Given the description of an element on the screen output the (x, y) to click on. 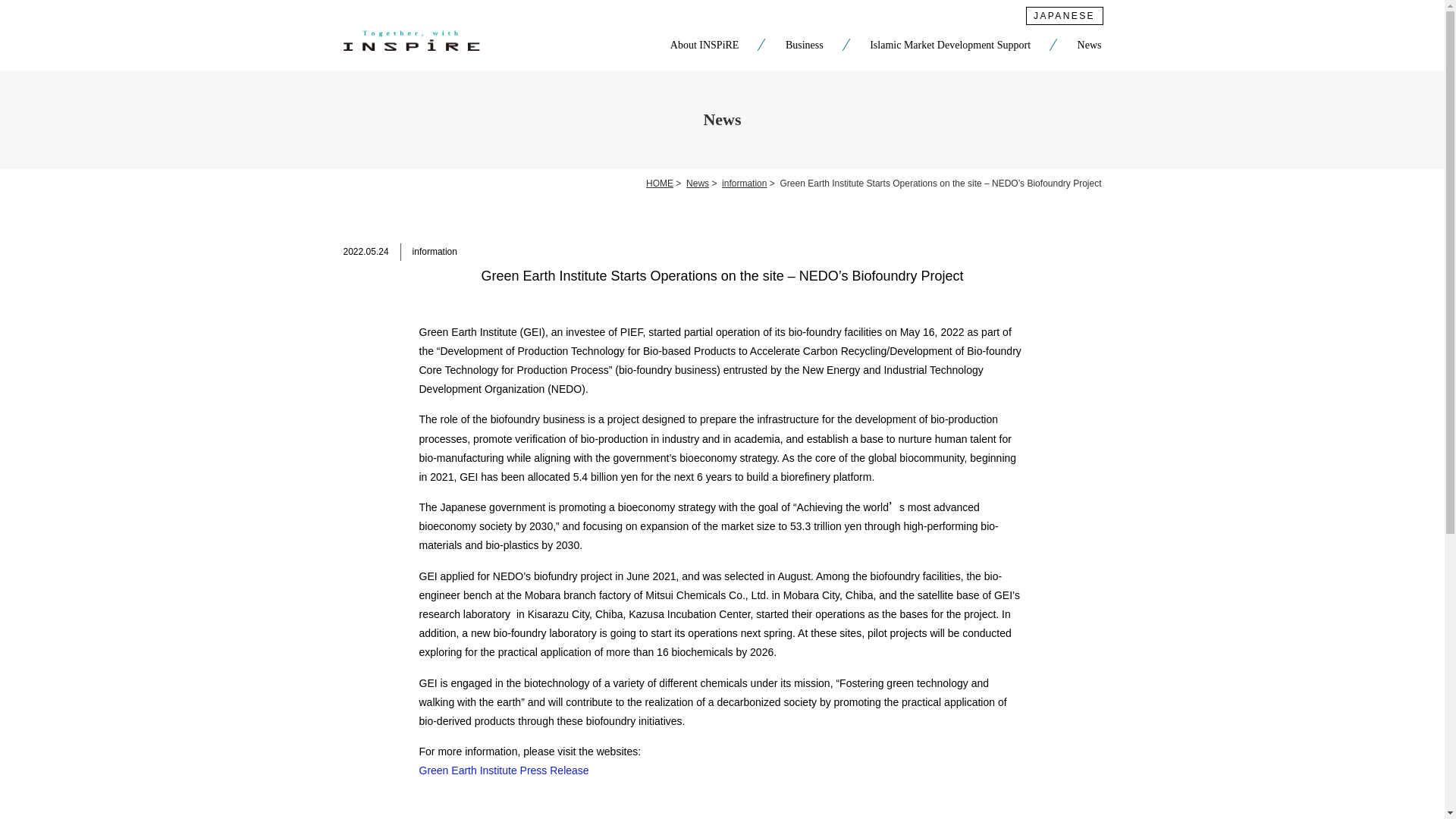
Green Earth Institute Press Release (503, 770)
About INSPiRE (704, 47)
News (697, 183)
Business (805, 47)
JAPANESE (1063, 15)
Islamic Market Development Support (949, 47)
News (1089, 47)
HOME (659, 183)
information (744, 183)
